Given the description of an element on the screen output the (x, y) to click on. 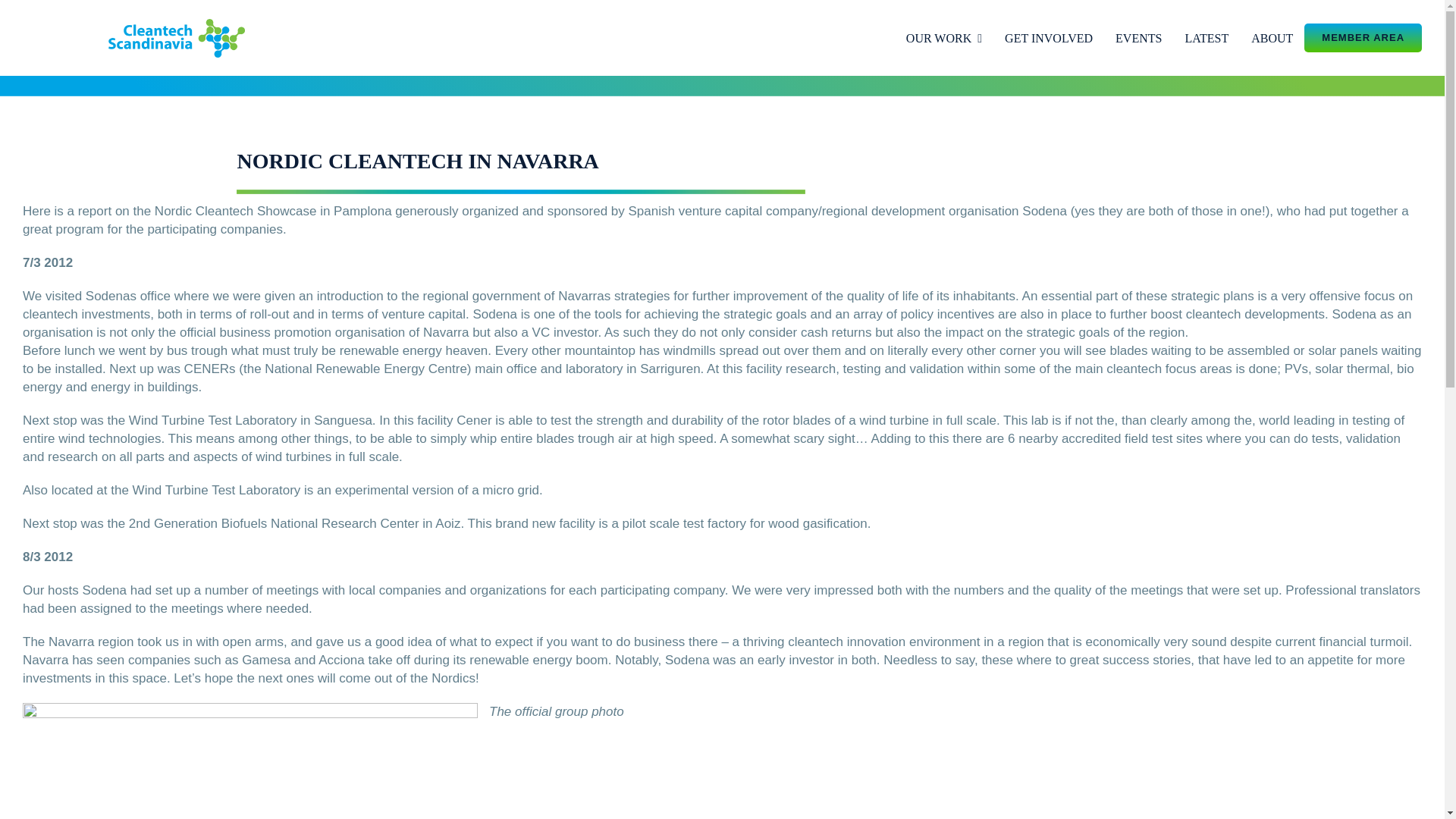
OUR WORK (943, 38)
EVENTS (1138, 38)
MEMBER AREA (1363, 38)
GET INVOLVED (1047, 38)
